Given the description of an element on the screen output the (x, y) to click on. 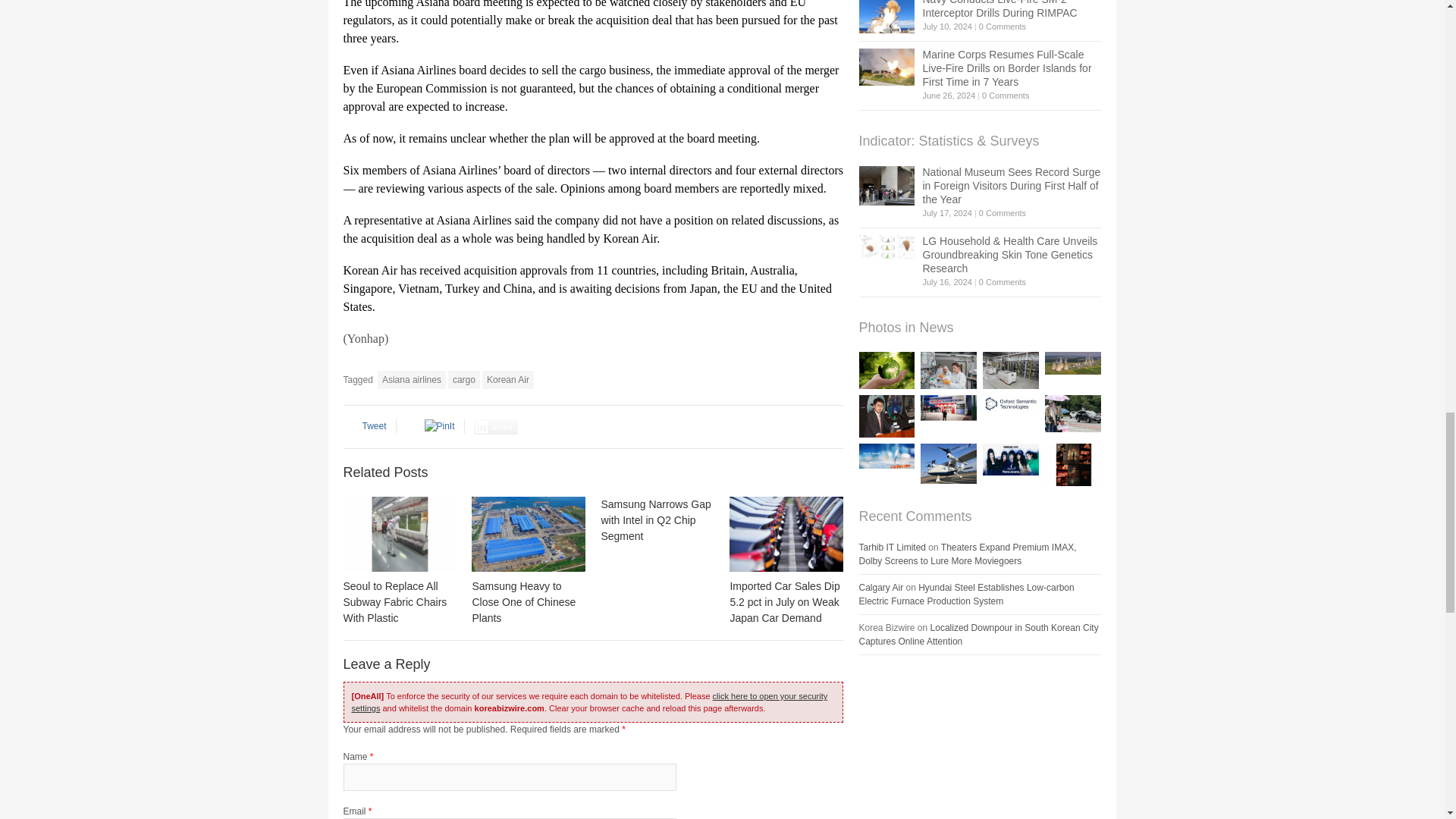
Seoul to Replace All Subway Fabric Chairs With Plastic (399, 533)
